Given the description of an element on the screen output the (x, y) to click on. 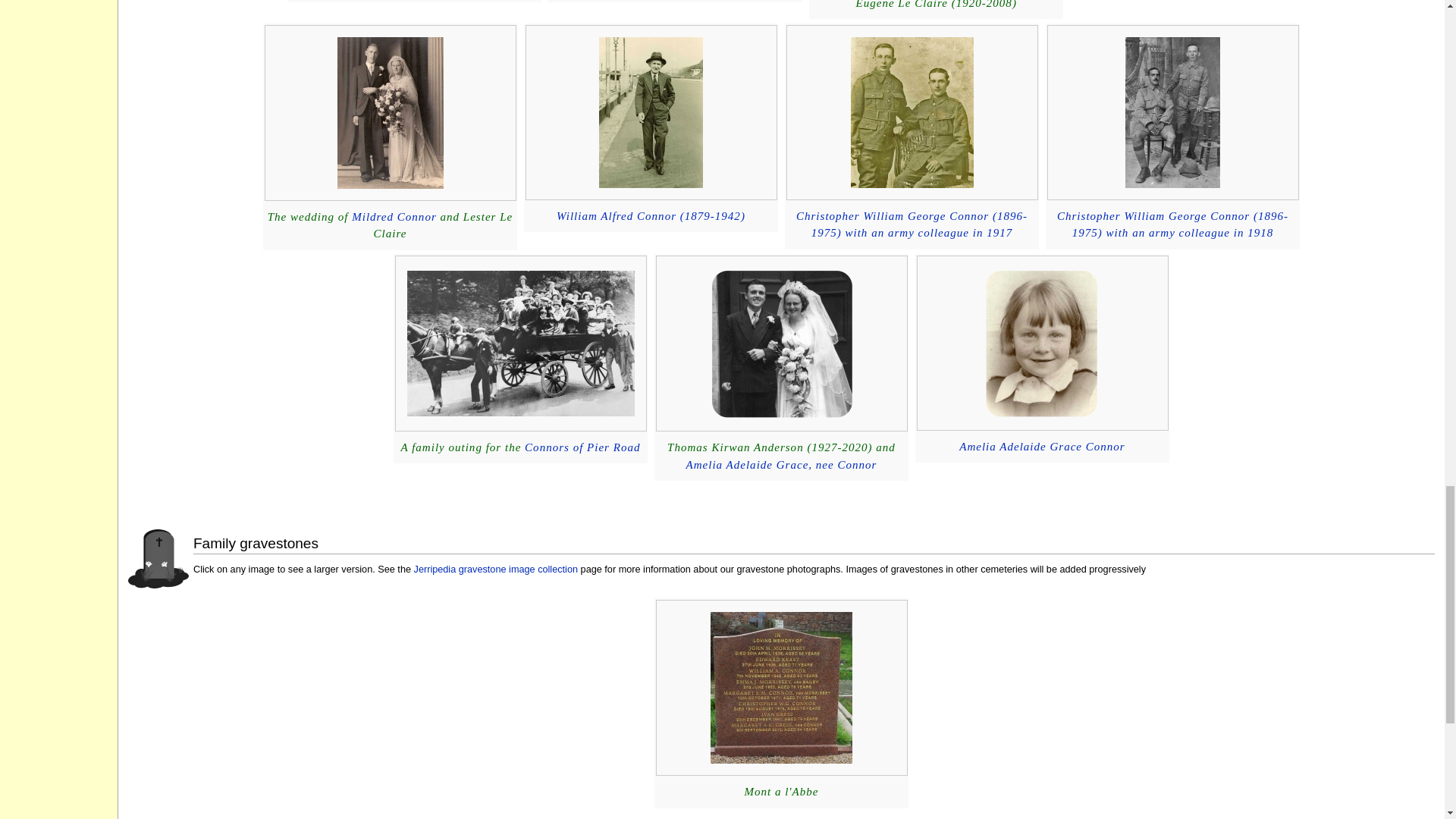
Descendants of Bernard Connor (650, 215)
Descendants of Bernard Connor (1172, 224)
Descendants of Bernard Connor (911, 224)
Descendants of Bernard Connor (394, 216)
